Given the description of an element on the screen output the (x, y) to click on. 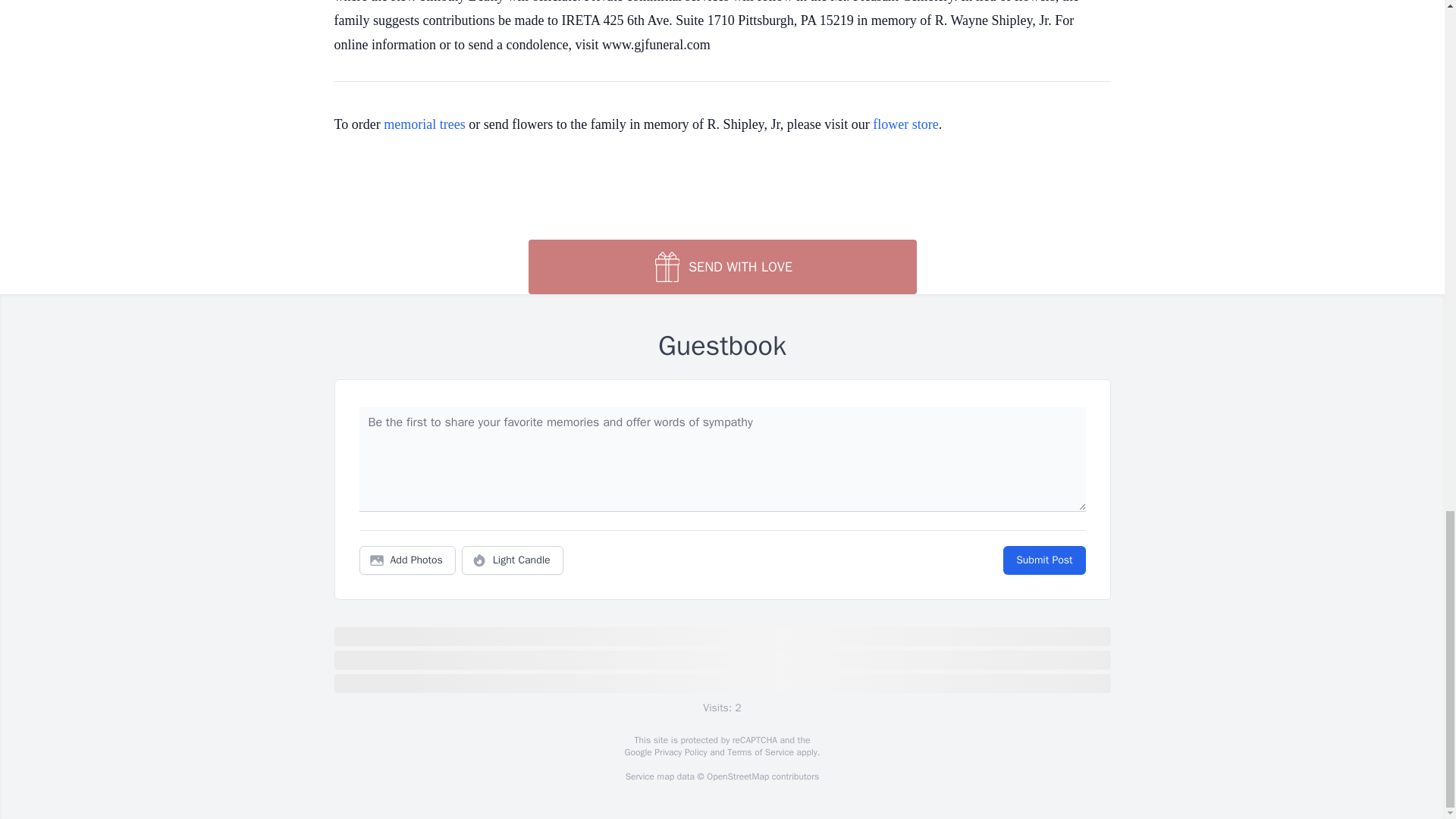
OpenStreetMap (737, 776)
SEND WITH LOVE (721, 266)
Submit Post (1043, 560)
Privacy Policy (679, 752)
flower store (904, 124)
Terms of Service (759, 752)
Add Photos (407, 560)
Light Candle (512, 560)
memorial trees (424, 124)
